Given the description of an element on the screen output the (x, y) to click on. 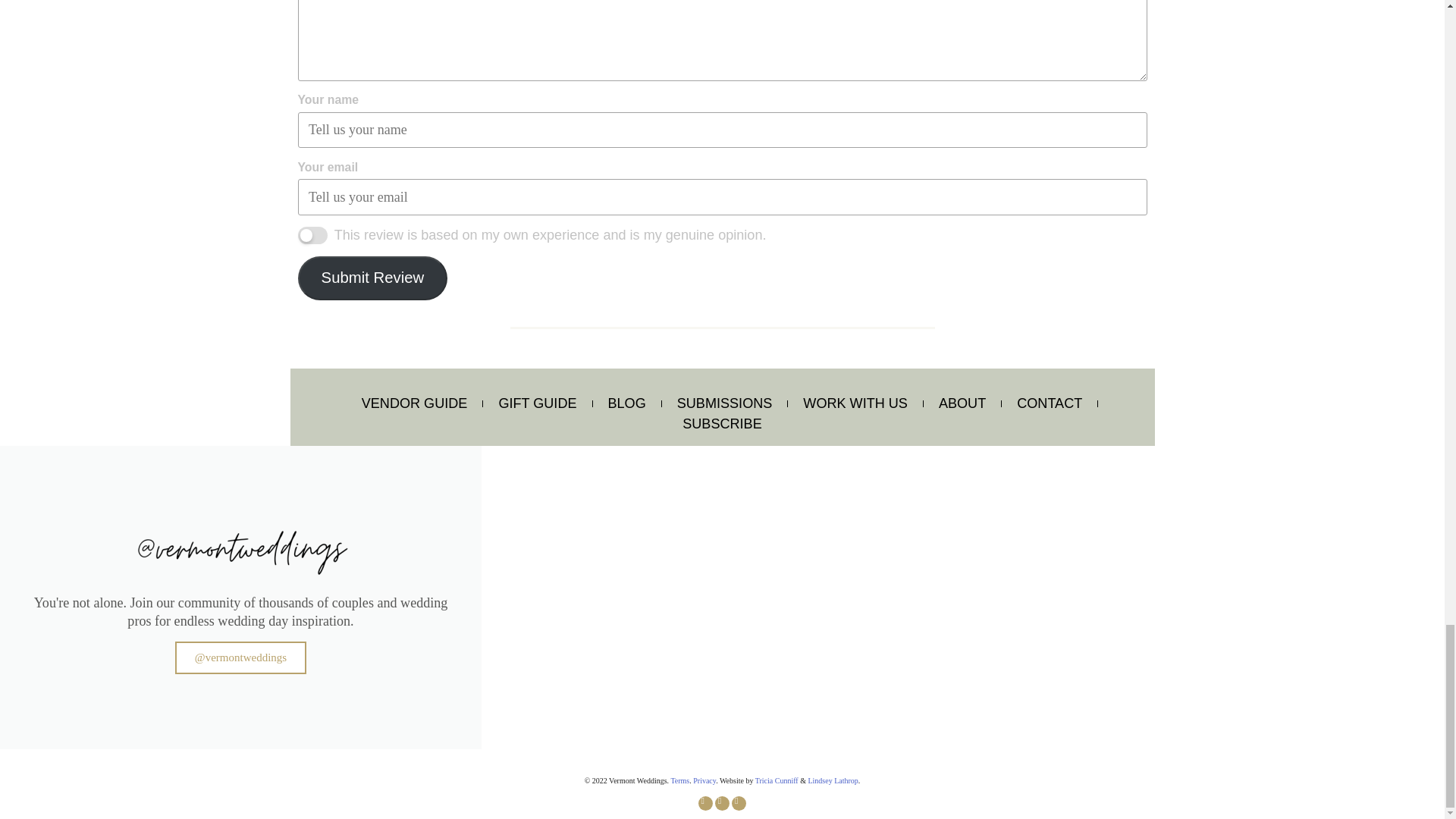
1 (311, 235)
